Given the description of an element on the screen output the (x, y) to click on. 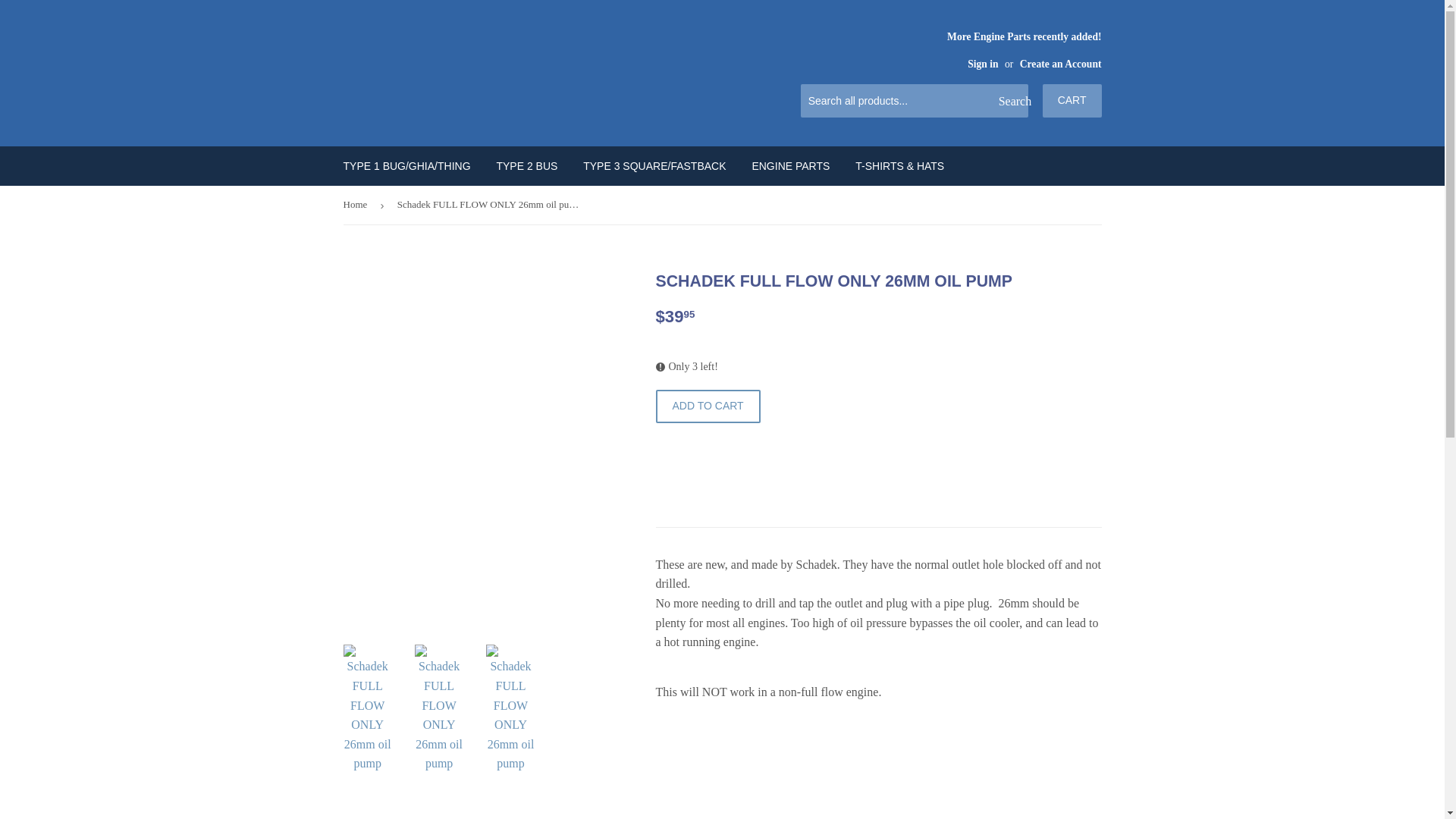
Create an Account (1061, 63)
More Engine Parts recently added! (1023, 49)
Search (1010, 101)
Sign in (982, 63)
CART (1072, 100)
Back to the frontpage (357, 204)
